Given the description of an element on the screen output the (x, y) to click on. 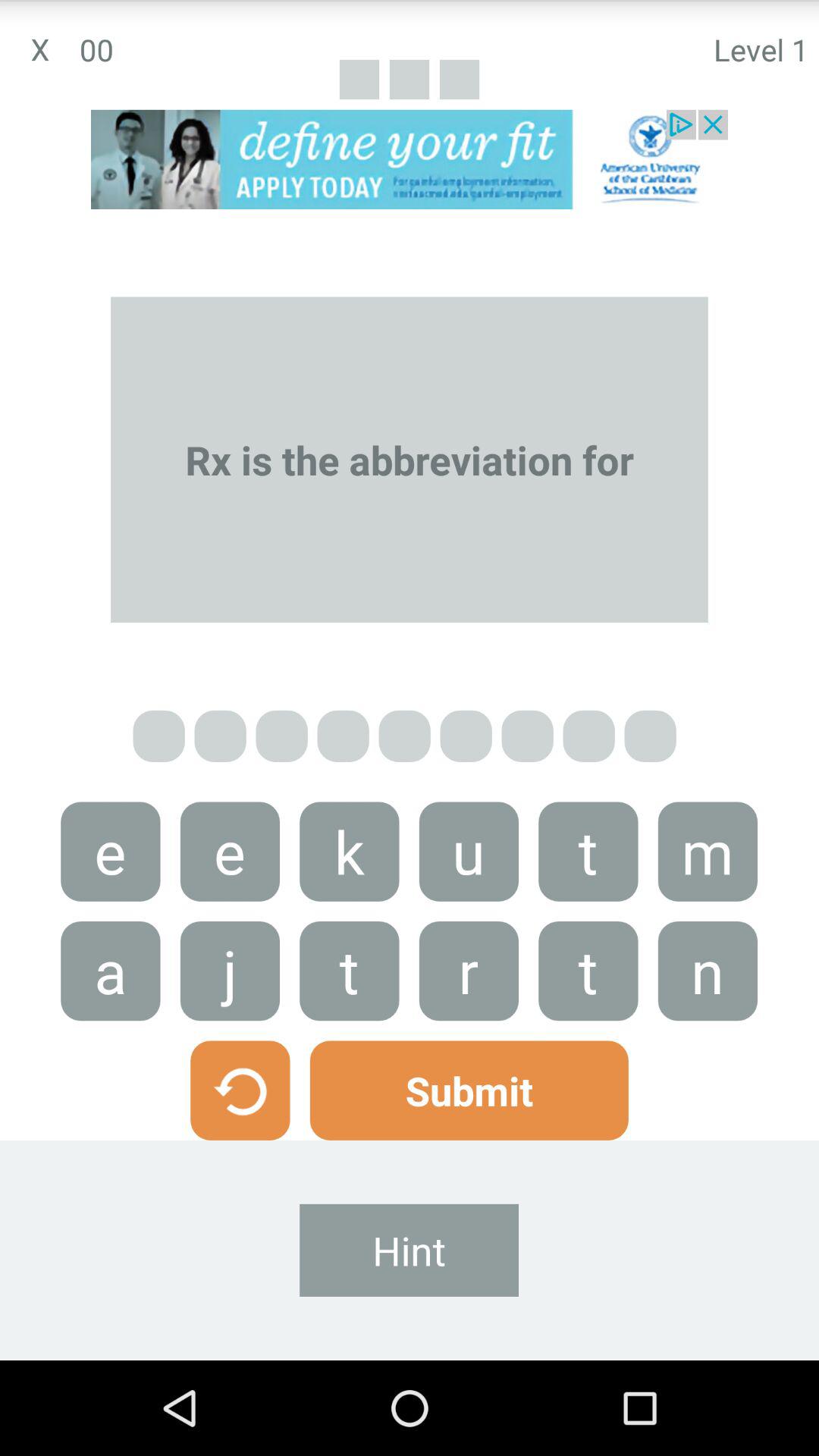
refresh option (240, 1090)
